Given the description of an element on the screen output the (x, y) to click on. 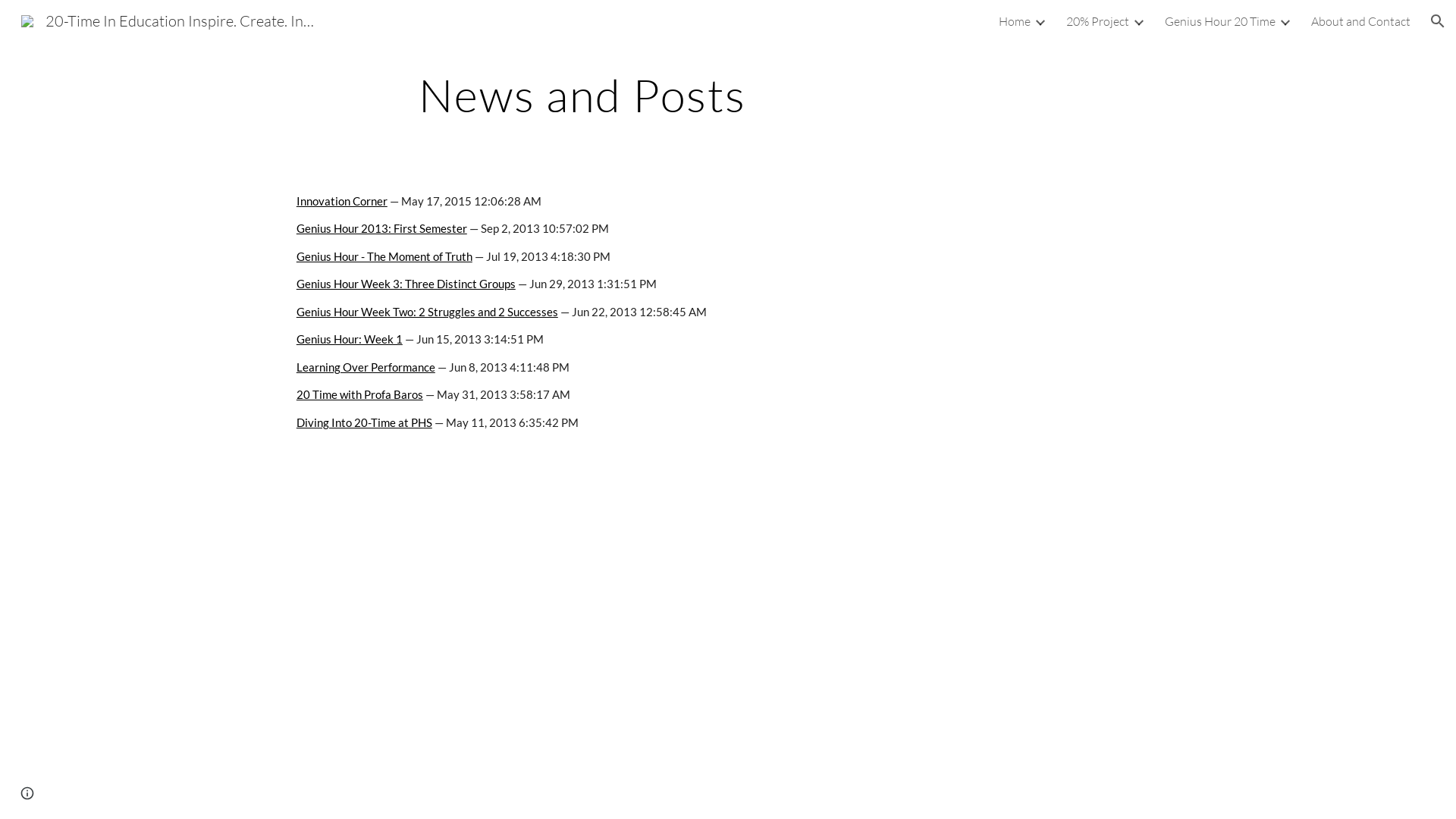
20-Time In Education Inspire. Create. Innovate. Element type: text (168, 18)
Genius Hour Week Two: 2 Struggles and 2 Successes Element type: text (427, 311)
Genius Hour 2013: First Semester Element type: text (381, 228)
Genius Hour Week 3: Three Distinct Groups Element type: text (405, 283)
Expand/Collapse Element type: hover (1138, 20)
20% Project Element type: text (1097, 20)
Diving Into 20-Time at PHS Element type: text (364, 422)
20 Time with Profa Baros Element type: text (359, 394)
Genius Hour - The Moment of Truth Element type: text (384, 256)
Home Element type: text (1014, 20)
Genius Hour: Week 1 Element type: text (349, 338)
Innovation Corner Element type: text (341, 200)
Learning Over Performance Element type: text (365, 366)
About and Contact Element type: text (1360, 20)
Expand/Collapse Element type: hover (1284, 20)
Genius Hour 20 Time Element type: text (1219, 20)
Expand/Collapse Element type: hover (1039, 20)
